Given the description of an element on the screen output the (x, y) to click on. 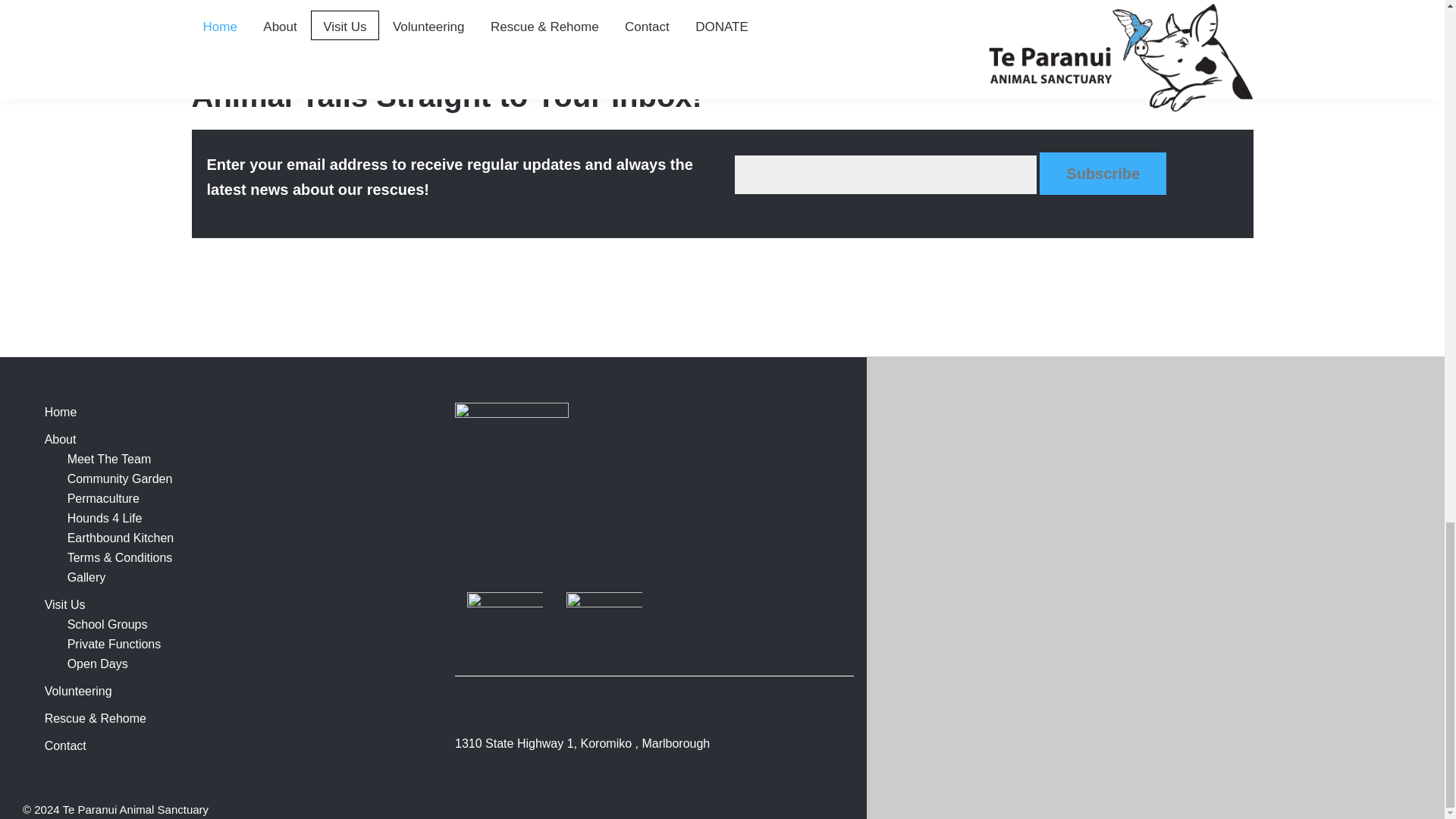
Home (61, 411)
Subscribe (1102, 173)
Subscribe (1102, 173)
About (61, 439)
Meet The Team (108, 459)
